Given the description of an element on the screen output the (x, y) to click on. 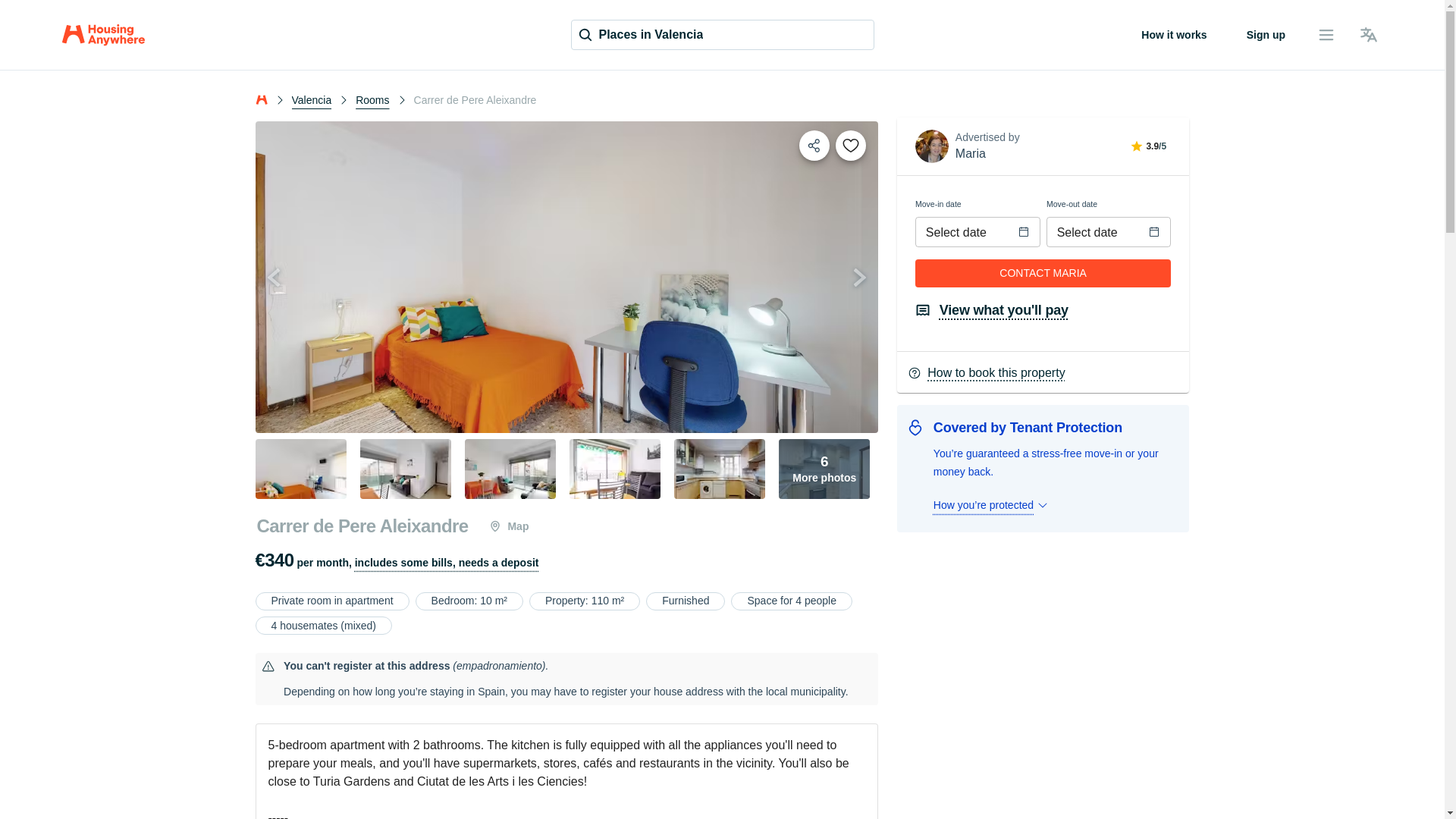
Select date (1094, 232)
Select date (963, 232)
Maria (970, 153)
How to book this property (1042, 374)
Map (508, 526)
Rooms (371, 99)
Carrer de Pere Aleixandre (361, 525)
Places in Valencia (823, 468)
includes some bills, needs a deposit (721, 34)
